Given the description of an element on the screen output the (x, y) to click on. 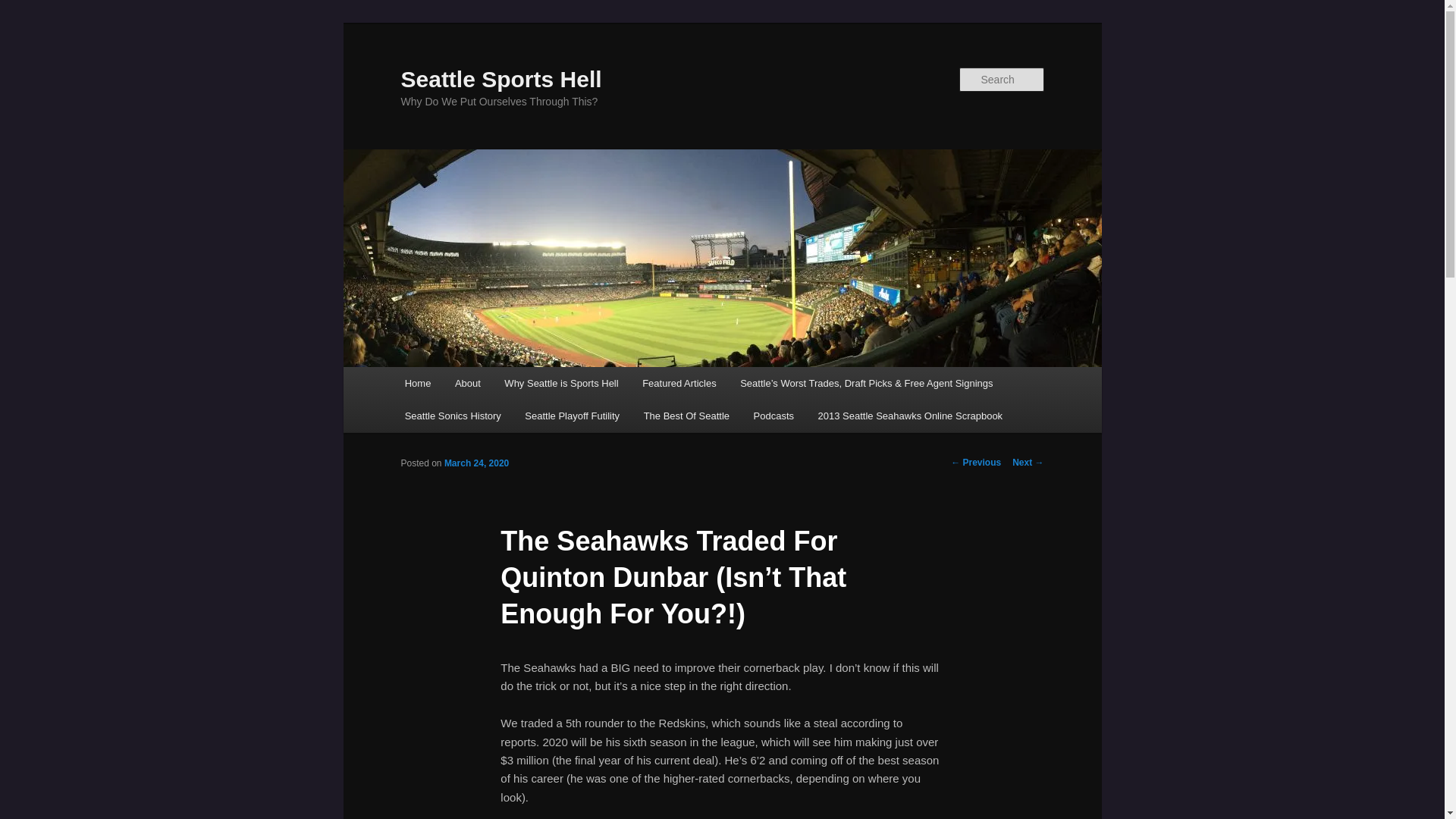
Search (24, 8)
12:26 pm (476, 462)
Seattle Sonics History (453, 415)
Seattle Sports Hell (500, 78)
Home (417, 382)
Featured Articles (679, 382)
Seattle Playoff Futility (572, 415)
About (467, 382)
Why Seattle is Sports Hell (561, 382)
